Given the description of an element on the screen output the (x, y) to click on. 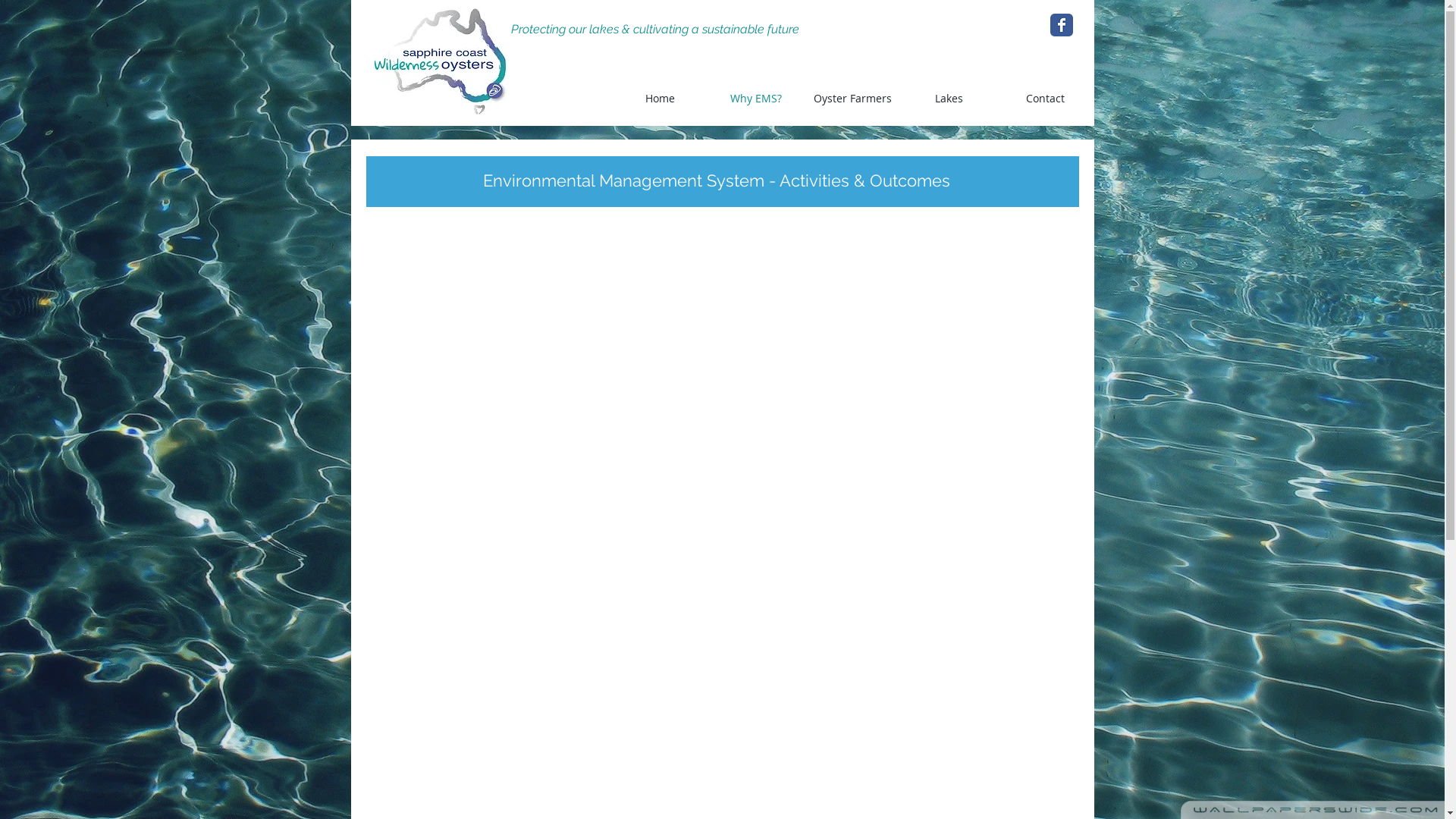
Contact Element type: text (1044, 97)
Lakes Element type: text (948, 97)
Why EMS? Element type: text (756, 97)
Home Element type: text (659, 97)
Oyster Farmers Element type: text (851, 97)
